Given the description of an element on the screen output the (x, y) to click on. 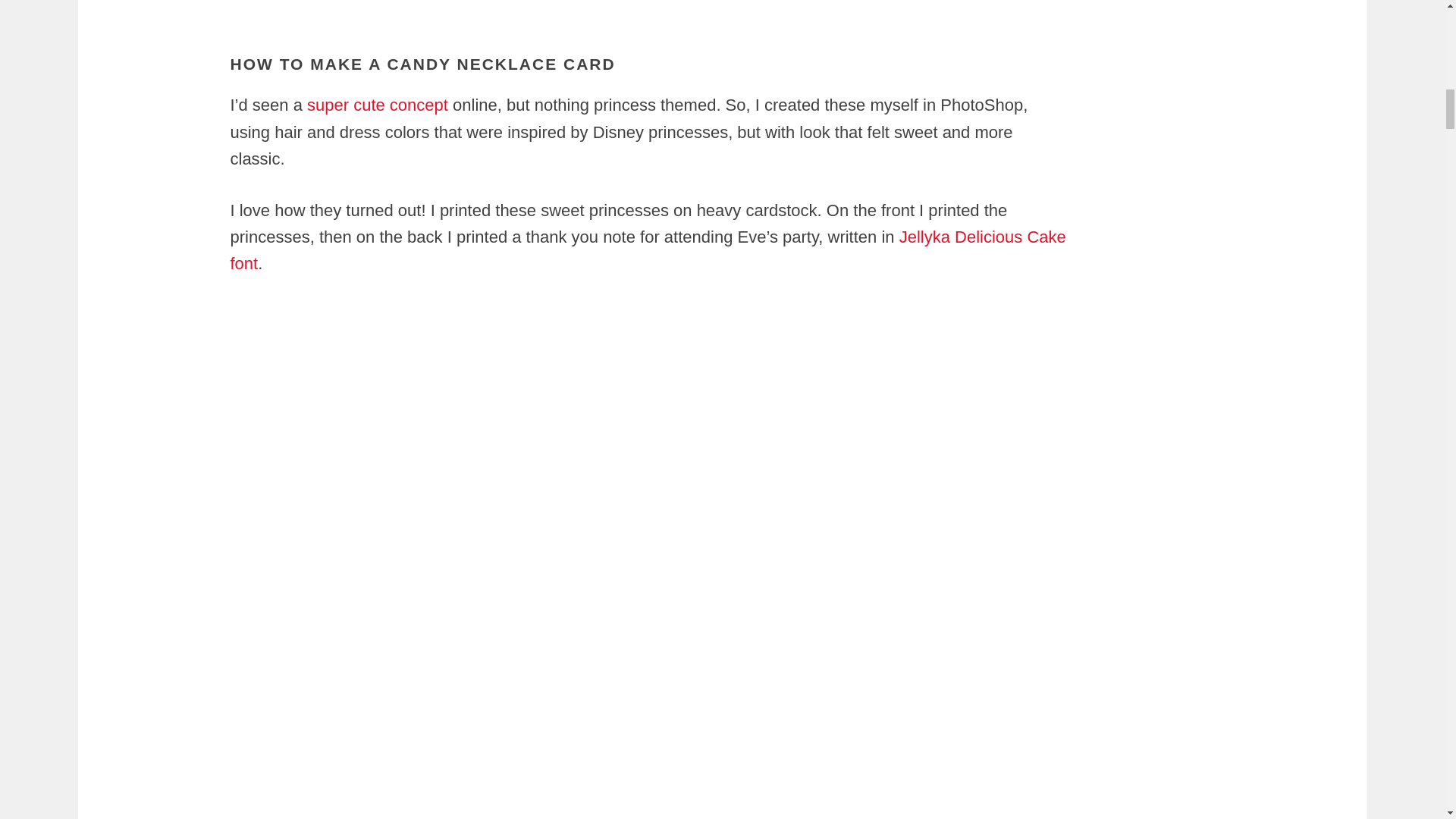
Jellyka Delicious Cake font (647, 249)
super cute concept (375, 104)
